Given the description of an element on the screen output the (x, y) to click on. 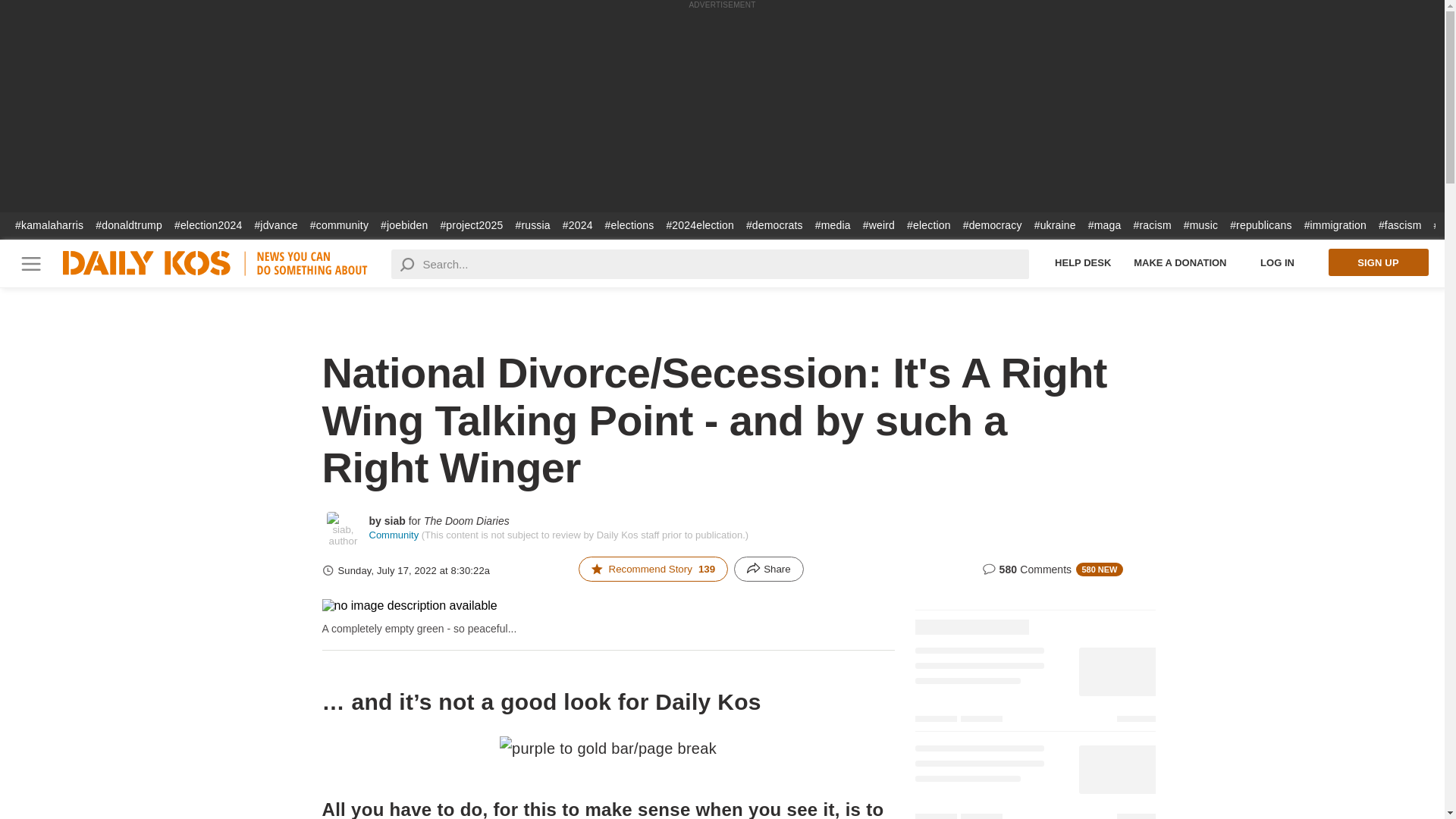
Make a Donation (1179, 262)
MAKE A DONATION (1179, 262)
Help Desk (1082, 262)
Loading... (1034, 617)
Loading... (1034, 778)
Loading... (1034, 686)
